Given the description of an element on the screen output the (x, y) to click on. 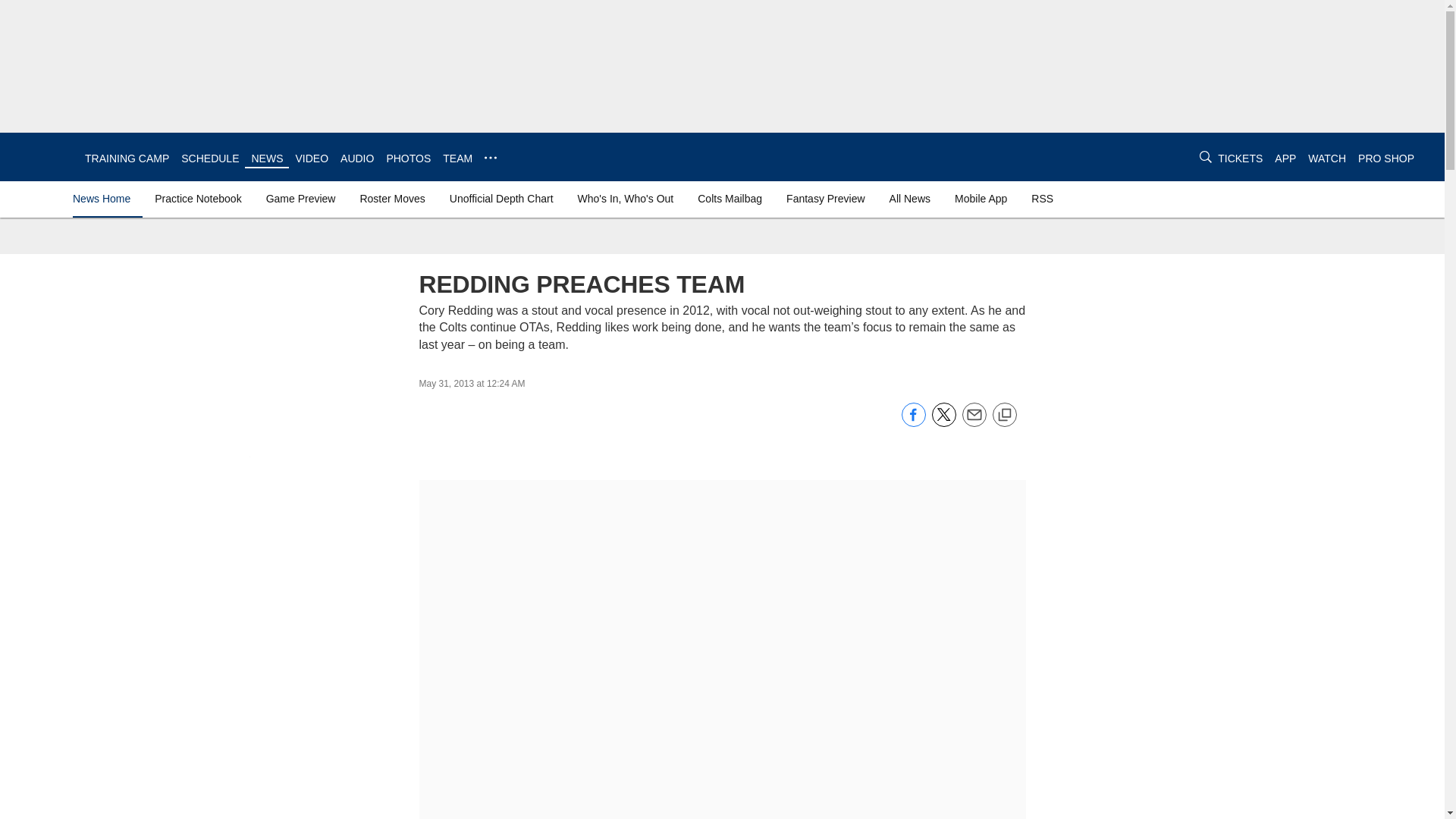
Game Preview (301, 198)
Unofficial Depth Chart (501, 198)
Colts Mailbag (729, 198)
Copy link (1003, 415)
TRAINING CAMP (126, 158)
Roster Moves (391, 198)
TICKETS (1239, 158)
Mobile App (981, 198)
SCHEDULE (209, 158)
Practice Notebook (197, 198)
SCHEDULE (209, 158)
Mobile App (981, 198)
VIDEO (312, 158)
APP (1285, 158)
News Home (104, 198)
